Given the description of an element on the screen output the (x, y) to click on. 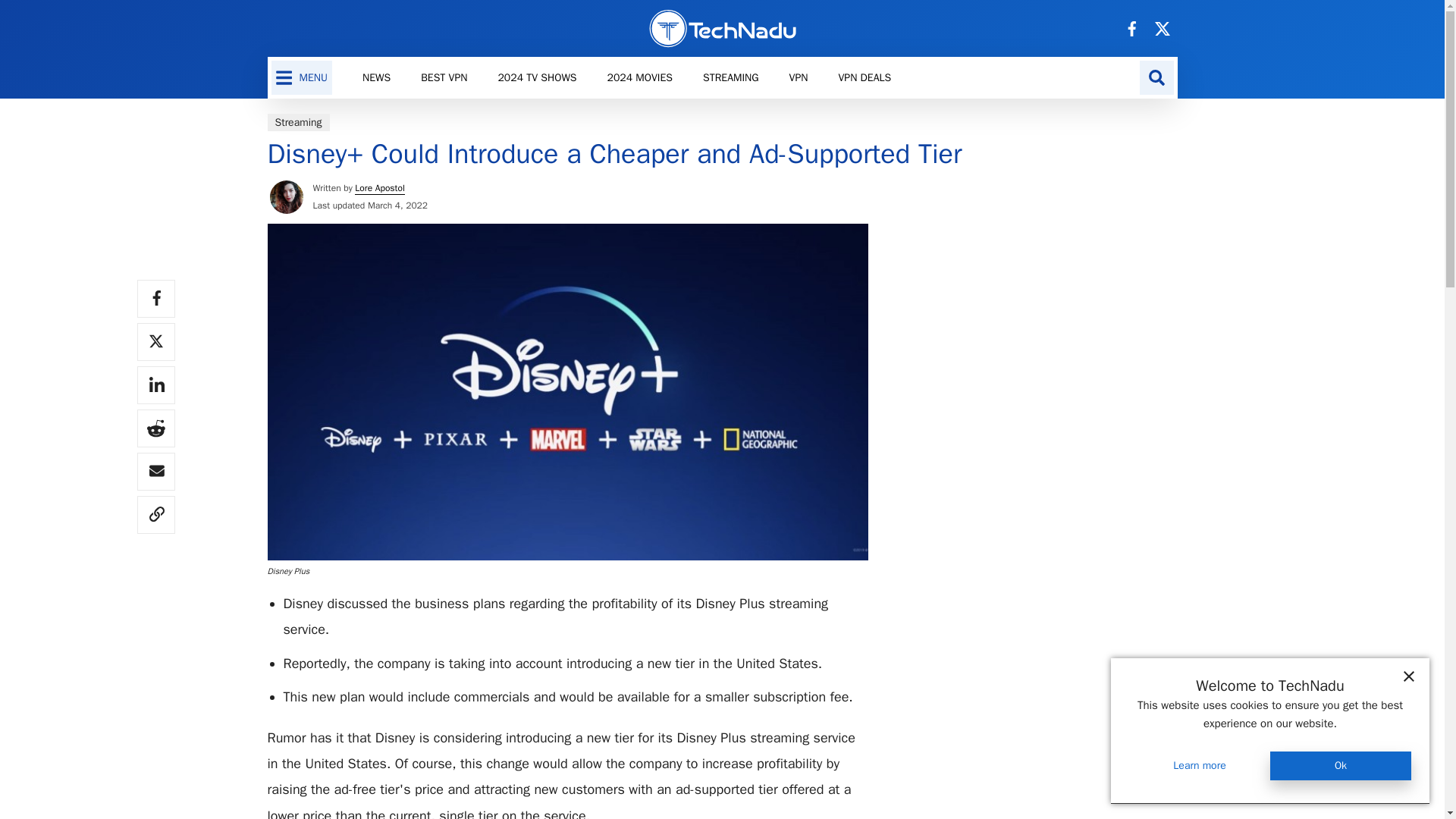
Copy Link to Clipboard (155, 514)
Share via Reddit (155, 428)
BEST VPN (443, 76)
VPN (798, 76)
2024 TV SHOWS (536, 76)
Find us on Facebook (1131, 27)
Share with Linkedin (155, 385)
Find us on X (1161, 27)
